Given the description of an element on the screen output the (x, y) to click on. 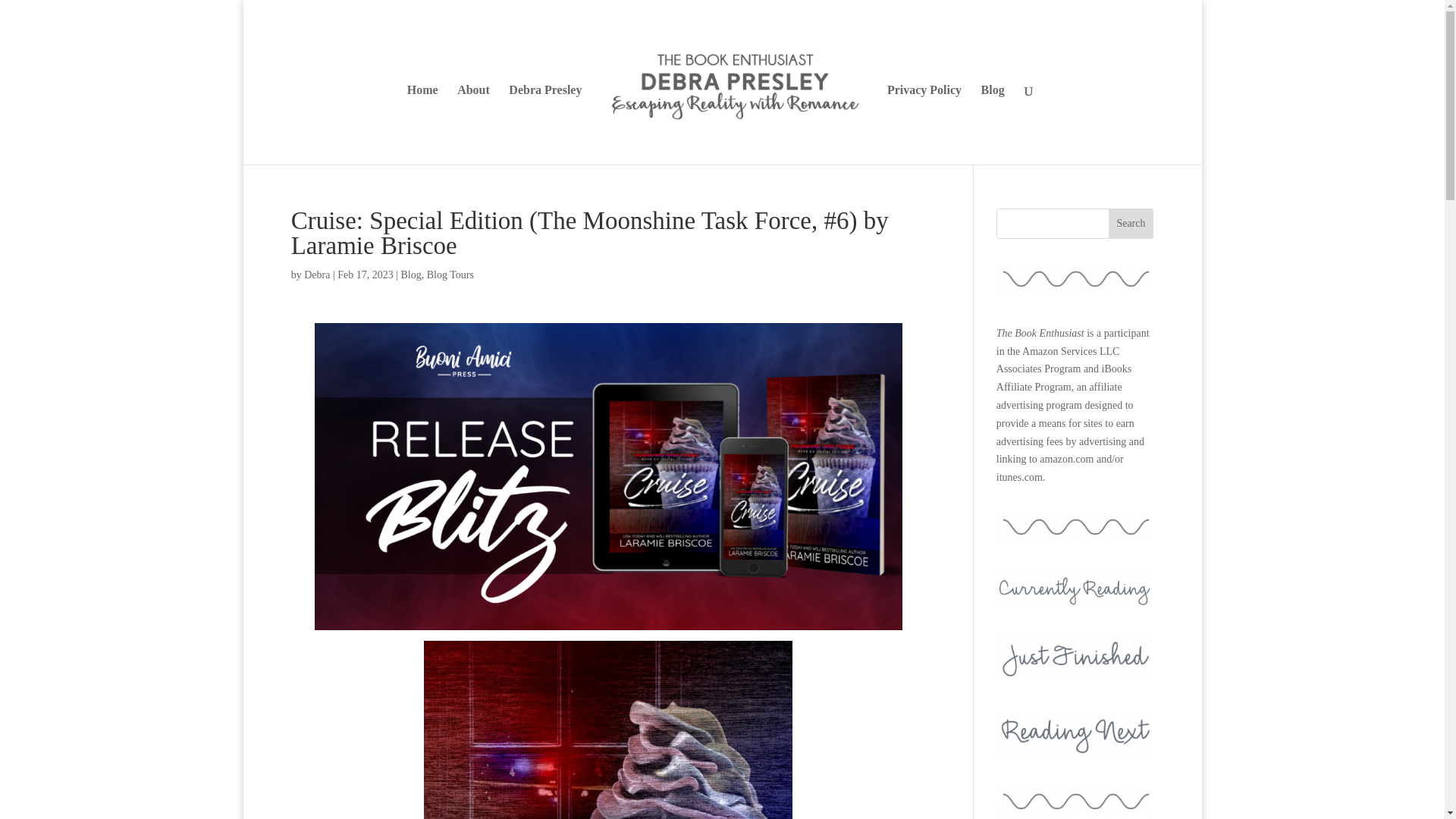
Blog (411, 274)
Posts by Debra (317, 274)
Blog Tours (450, 274)
Debra (317, 274)
Search (1131, 223)
Debra Presley (544, 124)
Privacy Policy (923, 124)
